Given the description of an element on the screen output the (x, y) to click on. 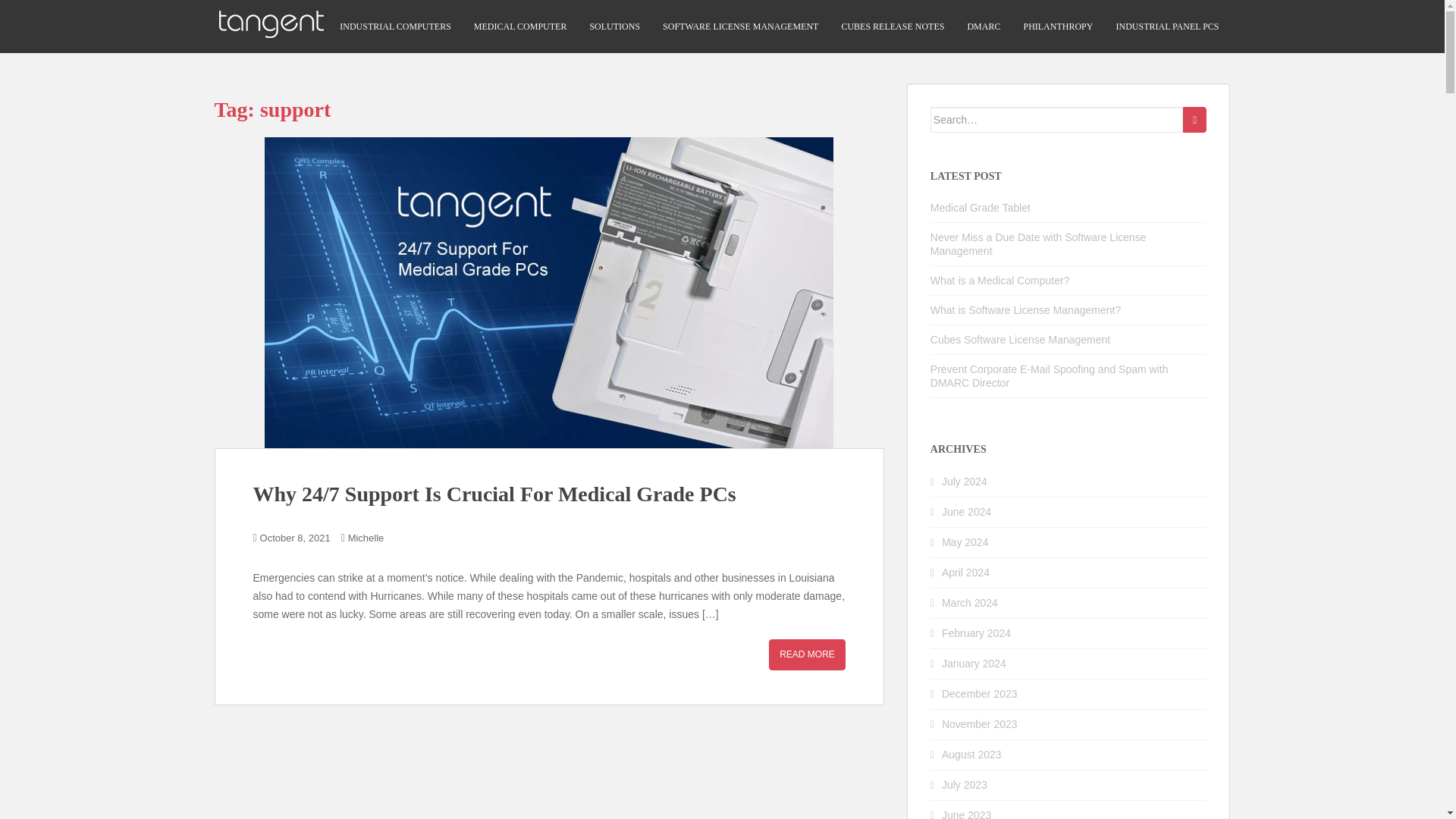
SOLUTIONS (614, 26)
What is a Medical Computer? (1000, 280)
June 2023 (966, 814)
READ MORE (806, 654)
INDUSTRIAL COMPUTERS (395, 26)
Michelle (365, 537)
What is Software License Management? (1025, 309)
June 2024 (966, 511)
April 2024 (966, 572)
PHILANTHROPY (1058, 26)
February 2024 (976, 633)
MEDICAL COMPUTER (520, 26)
INDUSTRIAL PANEL PCS (1166, 26)
November 2023 (979, 724)
December 2023 (979, 693)
